Given the description of an element on the screen output the (x, y) to click on. 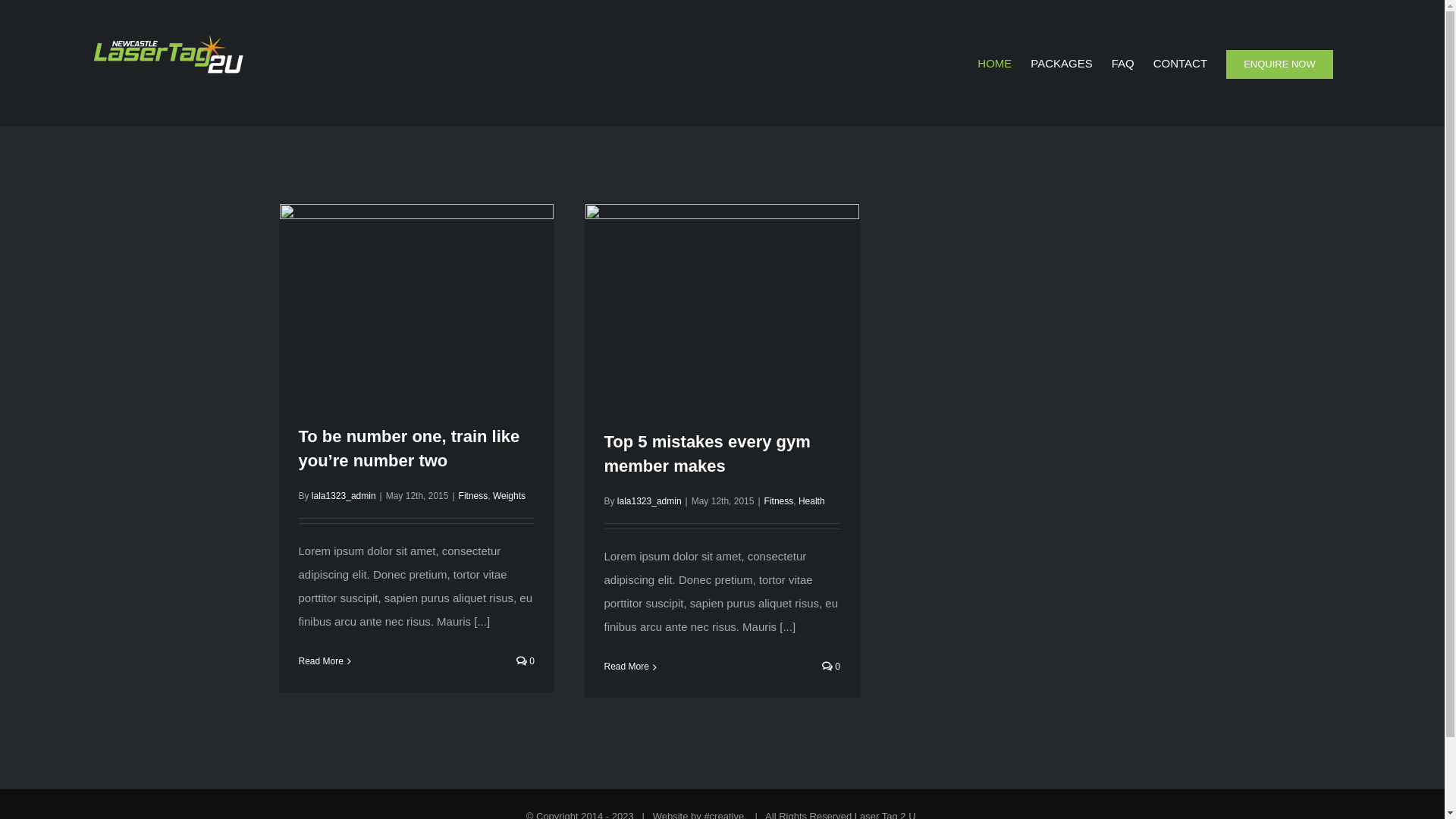
lala1323_admin Element type: text (343, 495)
Health Element type: text (811, 500)
CONTACT Element type: text (1180, 62)
Fitness Element type: text (778, 500)
FAQ Element type: text (1122, 62)
Top 5 mistakes every gym member makes Element type: text (706, 453)
ENQUIRE NOW Element type: text (1279, 62)
 0 Element type: text (525, 660)
Fitness Element type: text (473, 495)
PACKAGES Element type: text (1061, 62)
Read More Element type: text (320, 661)
 0 Element type: text (831, 666)
Read More Element type: text (625, 666)
lala1323_admin Element type: text (649, 500)
Weights Element type: text (508, 495)
HOME Element type: text (994, 62)
